Given the description of an element on the screen output the (x, y) to click on. 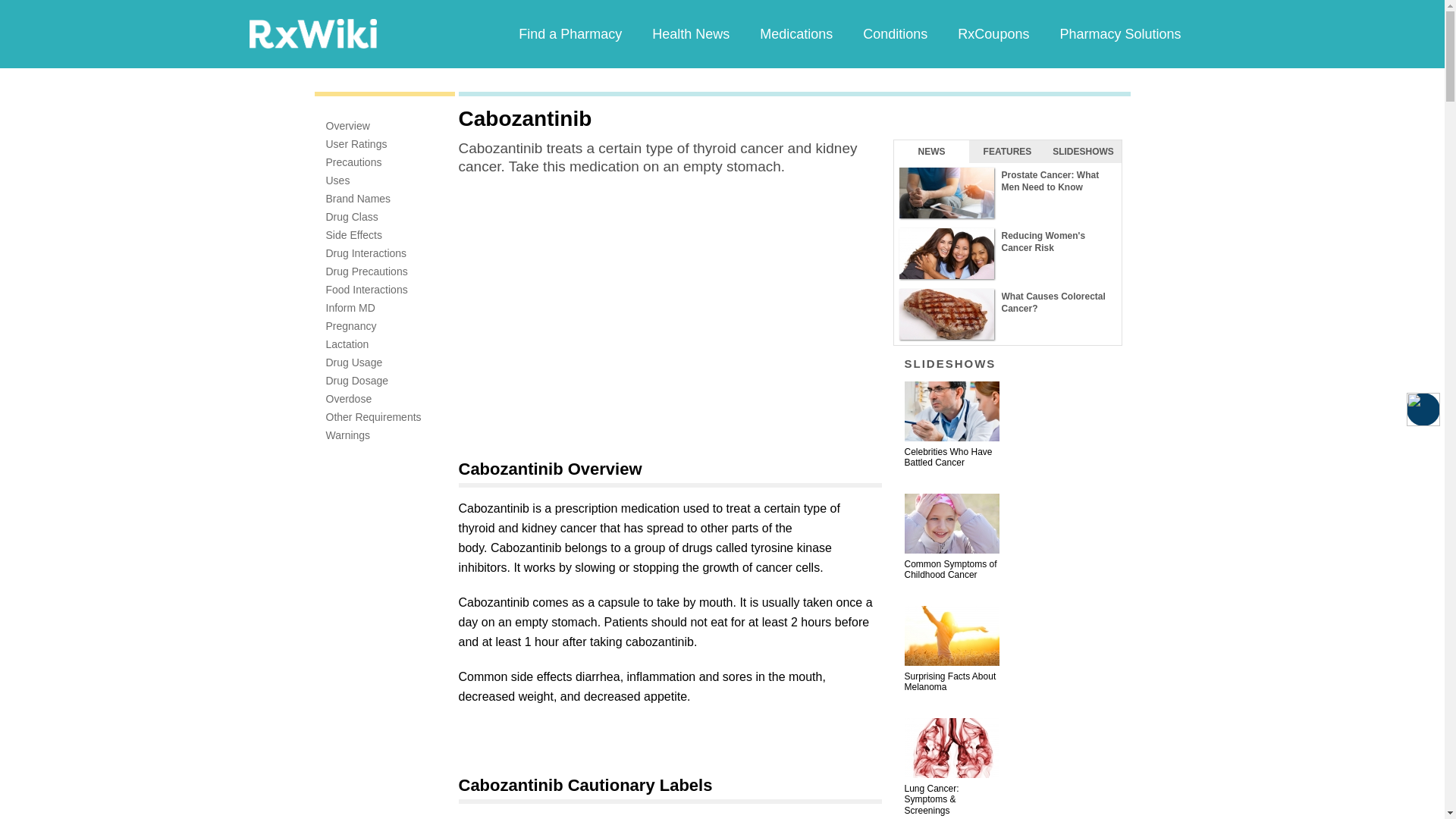
Side Effects (353, 234)
Health News (690, 33)
Find a Pharmacy (570, 33)
Overdose (349, 398)
User Ratings (356, 143)
Drug Interactions (366, 253)
Pregnancy (351, 326)
Pharmacy Solutions (1119, 33)
Drug Precautions (366, 271)
Drug Class (352, 216)
